Given the description of an element on the screen output the (x, y) to click on. 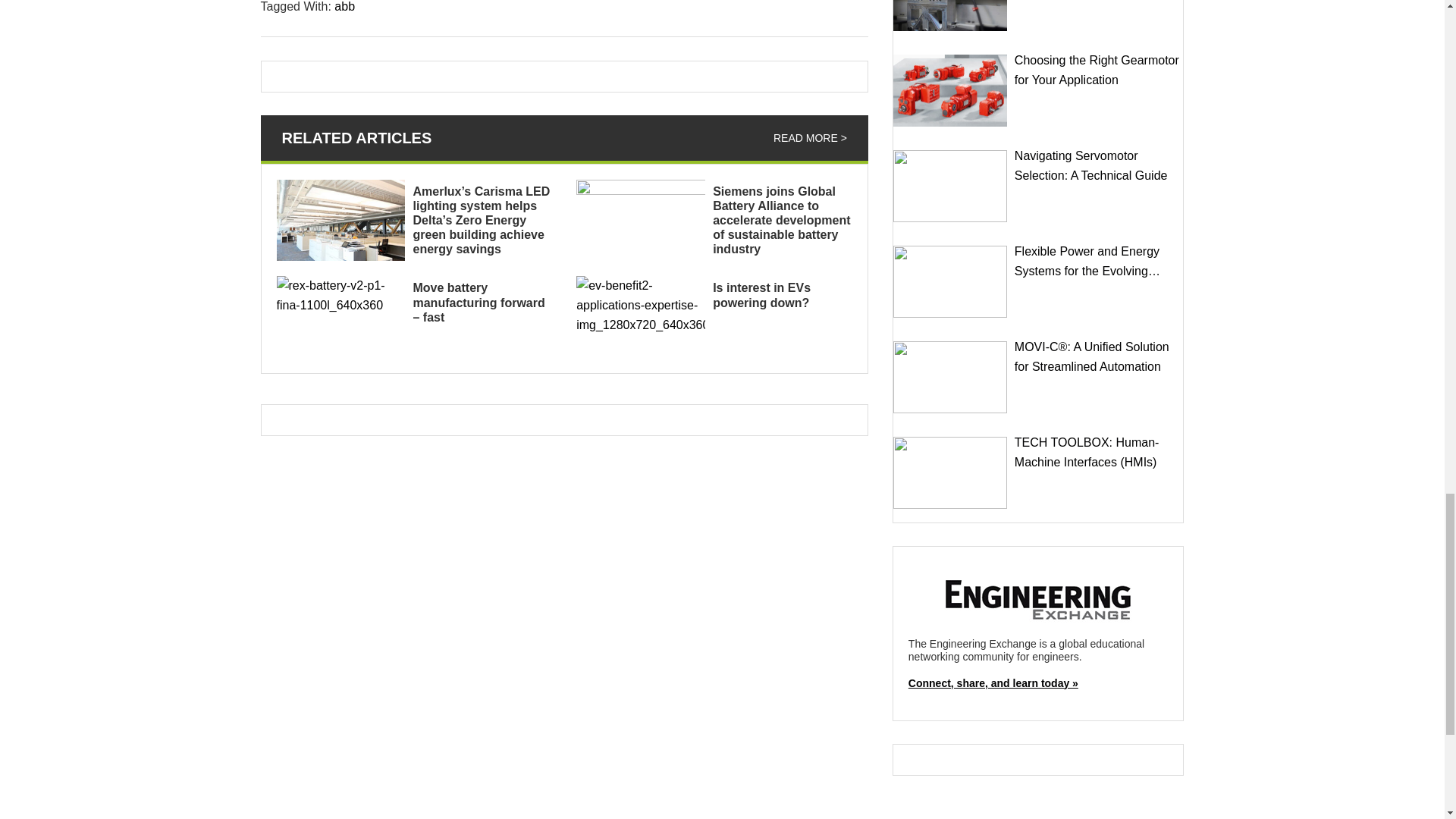
Flexible Power and Energy Systems for the Evolving Factory (950, 281)
Navigating Servomotor Selection: A Technical Guide (950, 185)
Choosing the Right Gearmotor for Your Application (950, 90)
